Given the description of an element on the screen output the (x, y) to click on. 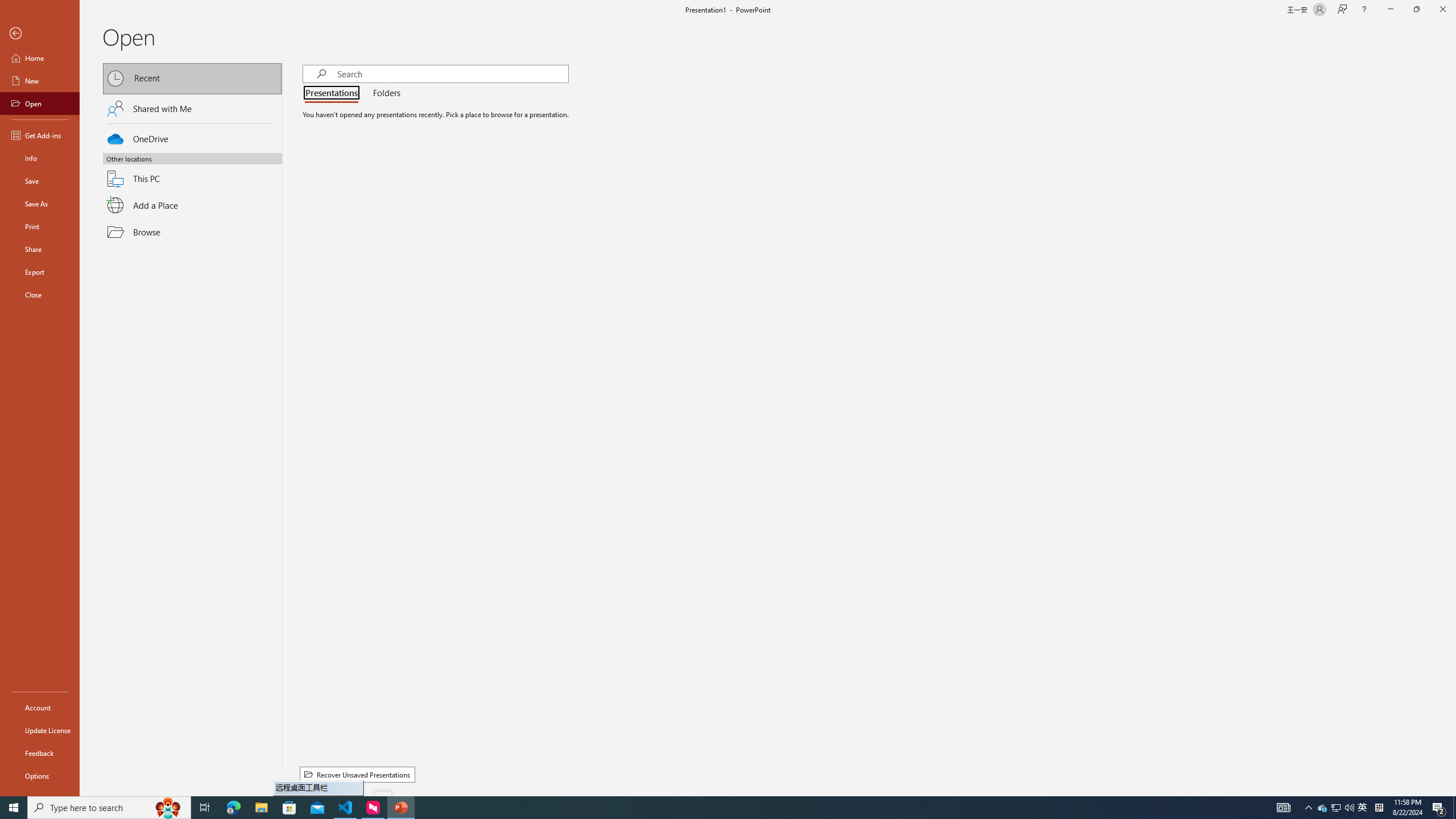
Get Add-ins (40, 134)
Options (40, 775)
OneDrive (192, 136)
Browse (192, 231)
Add a Place (192, 204)
Presentations (333, 93)
Account (40, 707)
Update License (40, 730)
Shared with Me (192, 108)
